Given the description of an element on the screen output the (x, y) to click on. 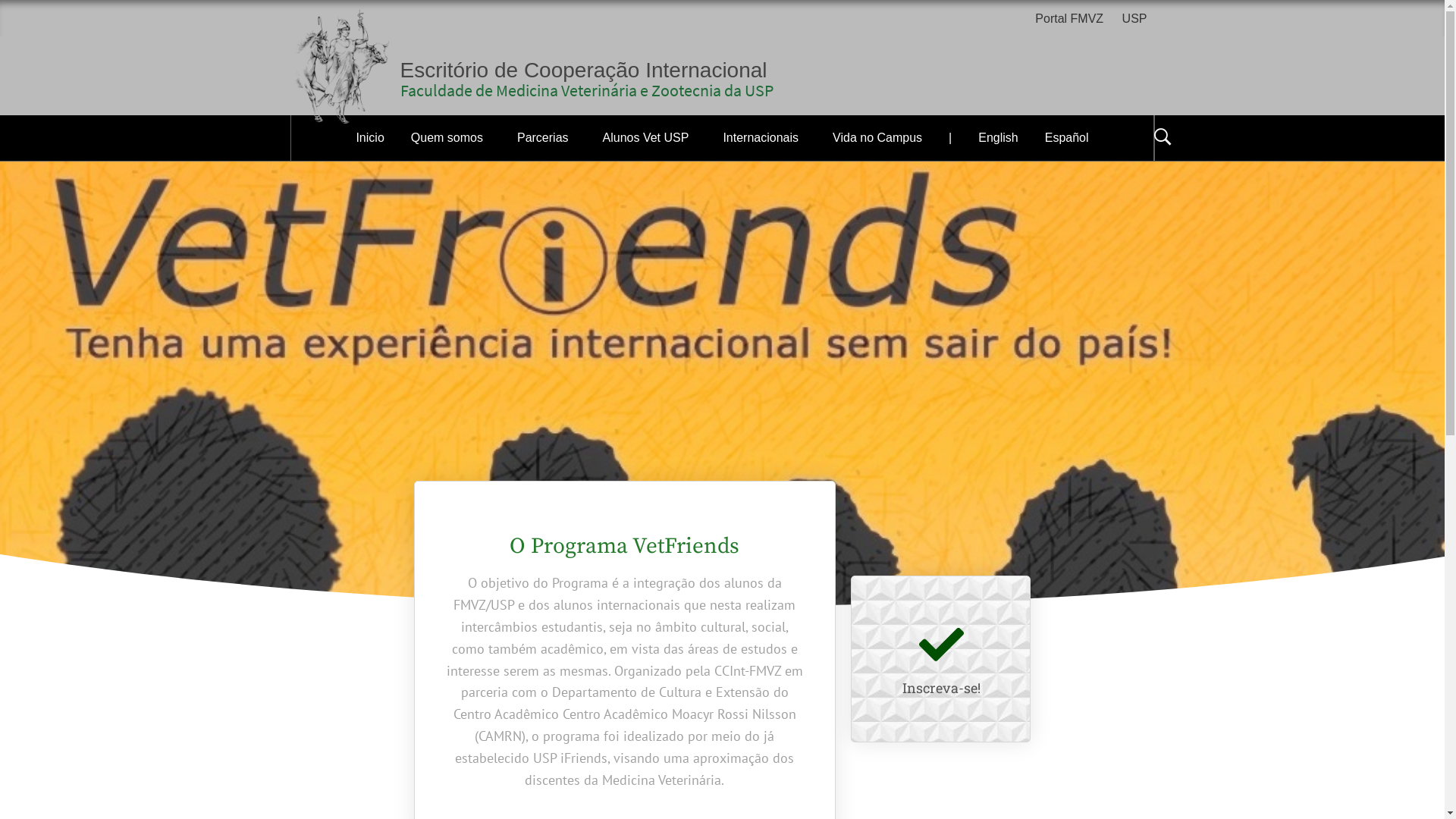
Alunos Vet USP Element type: text (649, 137)
USP Element type: text (1134, 19)
Pesquisar Element type: text (797, 33)
English Element type: text (997, 137)
Inicio Element type: text (369, 137)
Portal FMVZ Element type: text (1072, 19)
Quem somos Element type: text (450, 137)
Vida no Campus Element type: text (877, 137)
Internacionais Element type: text (764, 137)
Parcerias Element type: text (546, 137)
Inscreva-se! Element type: text (941, 687)
| Element type: text (950, 137)
